Given the description of an element on the screen output the (x, y) to click on. 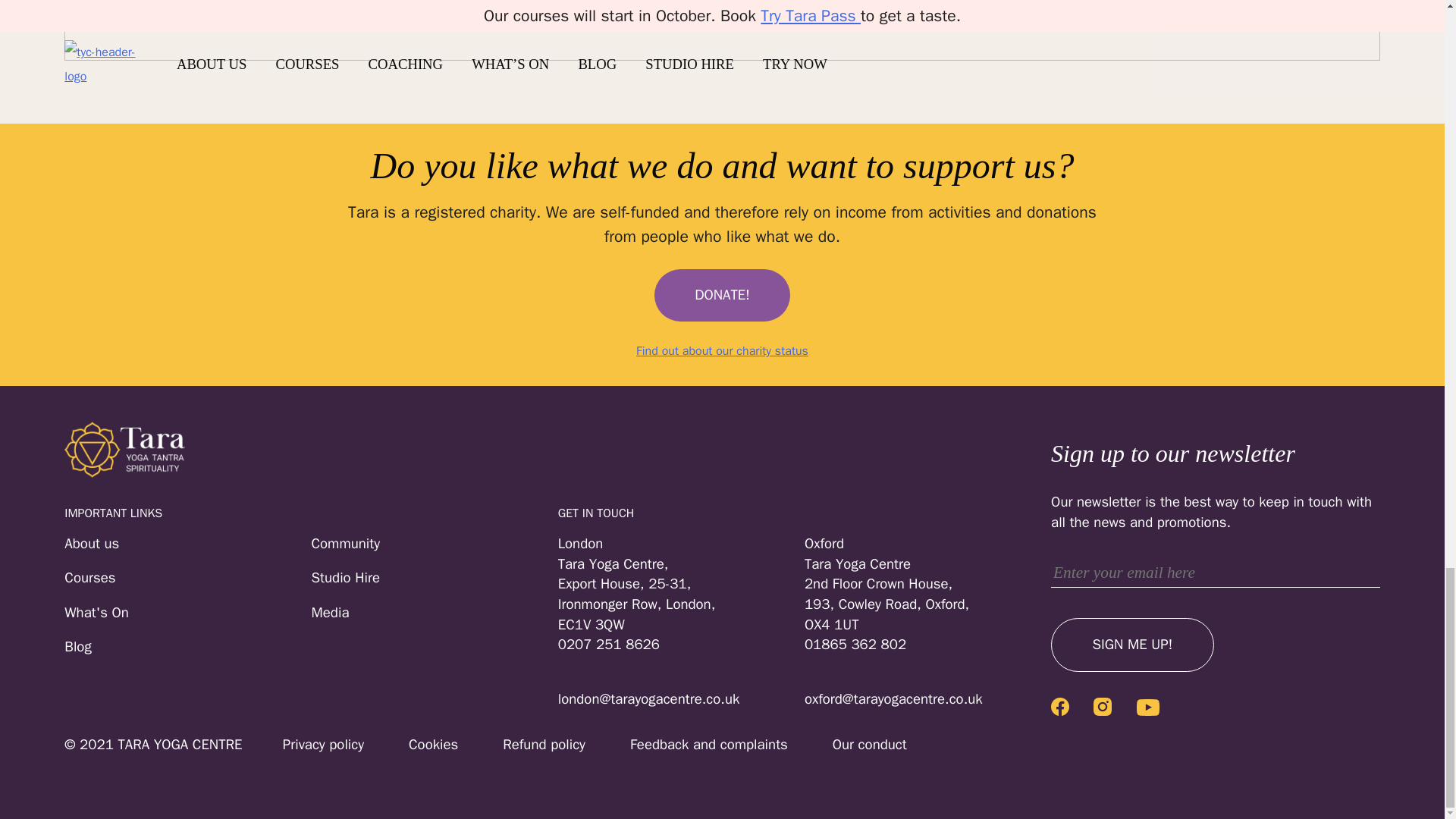
01865 362 802 (928, 644)
Sign me up! (1132, 644)
Feedback and complaints (688, 744)
What's On (187, 612)
Sign me up! (1132, 644)
About us (187, 543)
Blog (187, 647)
0207 251 8626 (681, 644)
Privacy policy (302, 744)
Cookies (413, 744)
